Given the description of an element on the screen output the (x, y) to click on. 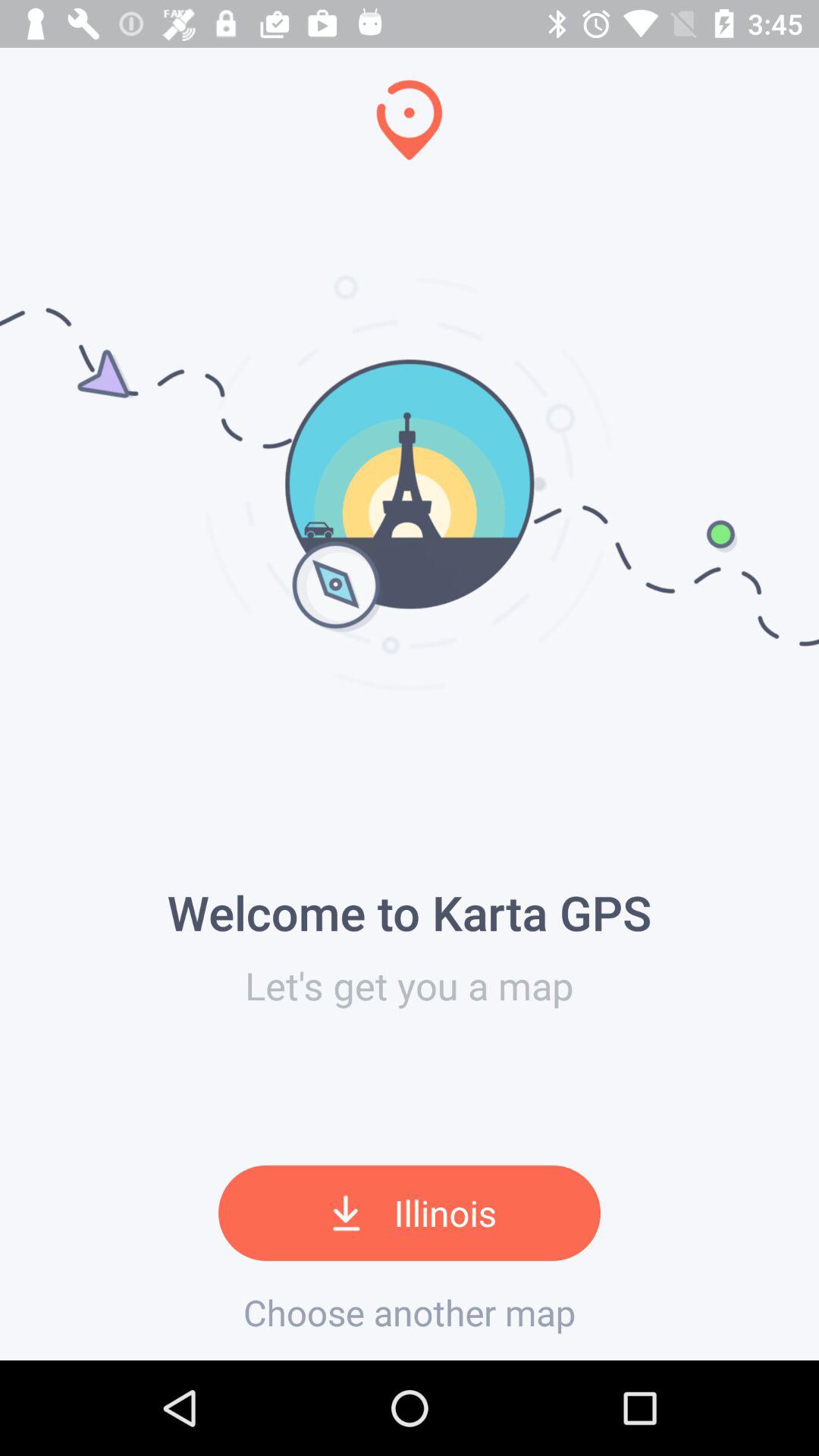
choose item on the left (5, 680)
